Given the description of an element on the screen output the (x, y) to click on. 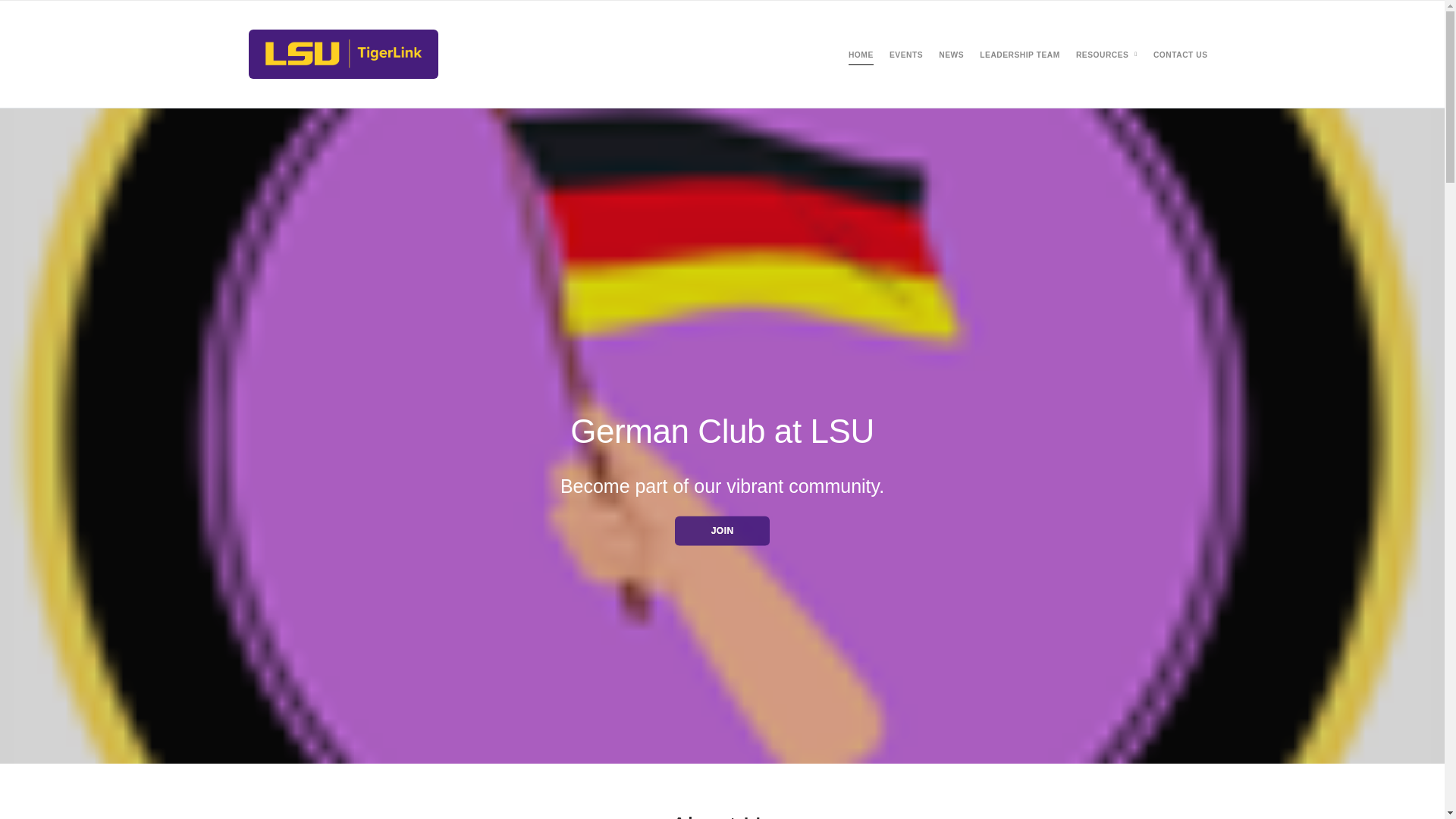
HOME (860, 54)
EVENTS (906, 54)
LEADERSHIP TEAM (1019, 54)
NEWS (951, 54)
RESOURCES (1102, 54)
CONTACT US (1180, 54)
JOIN (721, 530)
